Given the description of an element on the screen output the (x, y) to click on. 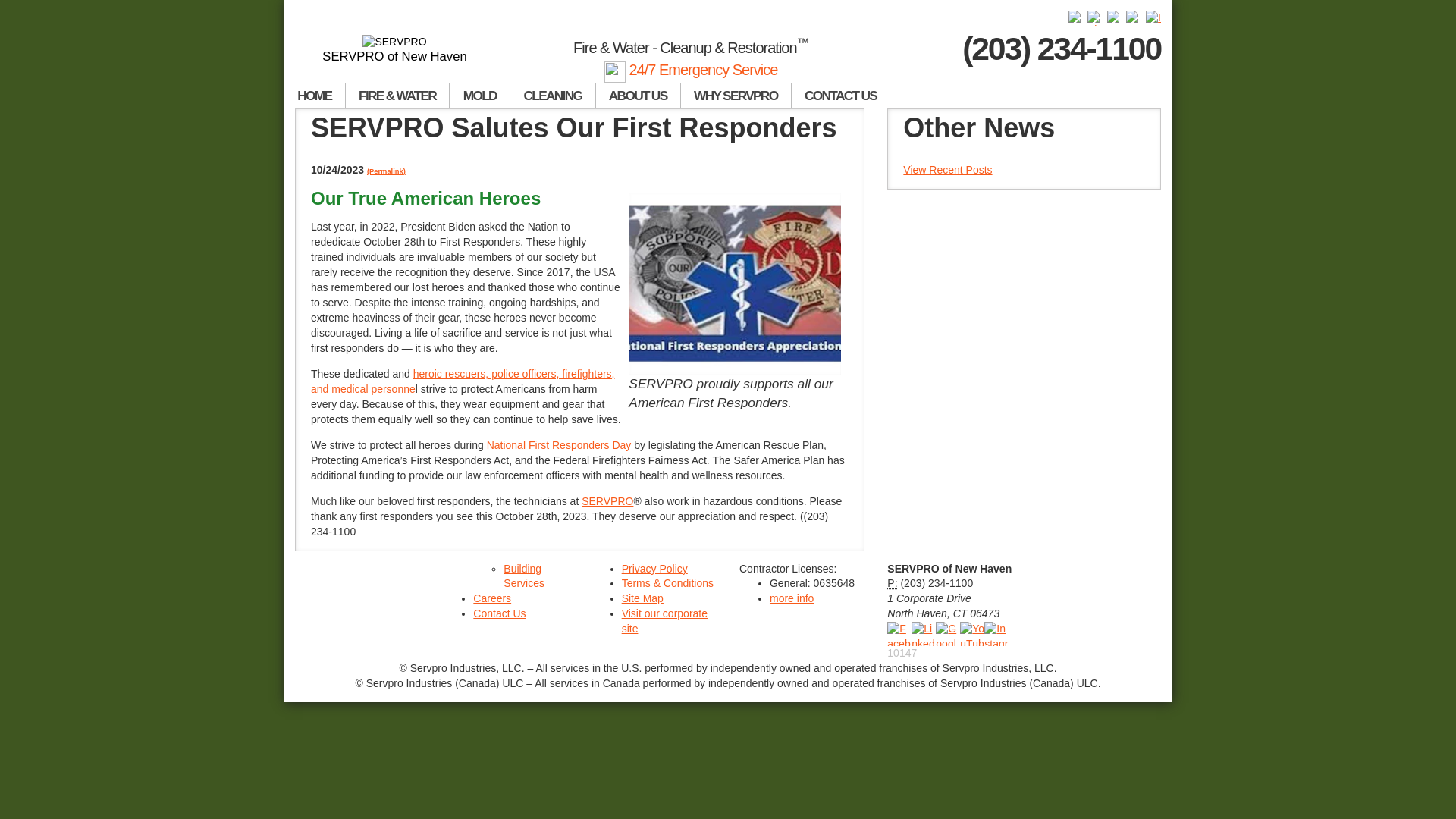
ABOUT US (638, 95)
SERVPRO of New Haven (395, 49)
MOLD (480, 95)
CLEANING (553, 95)
HOME (314, 95)
